Given the description of an element on the screen output the (x, y) to click on. 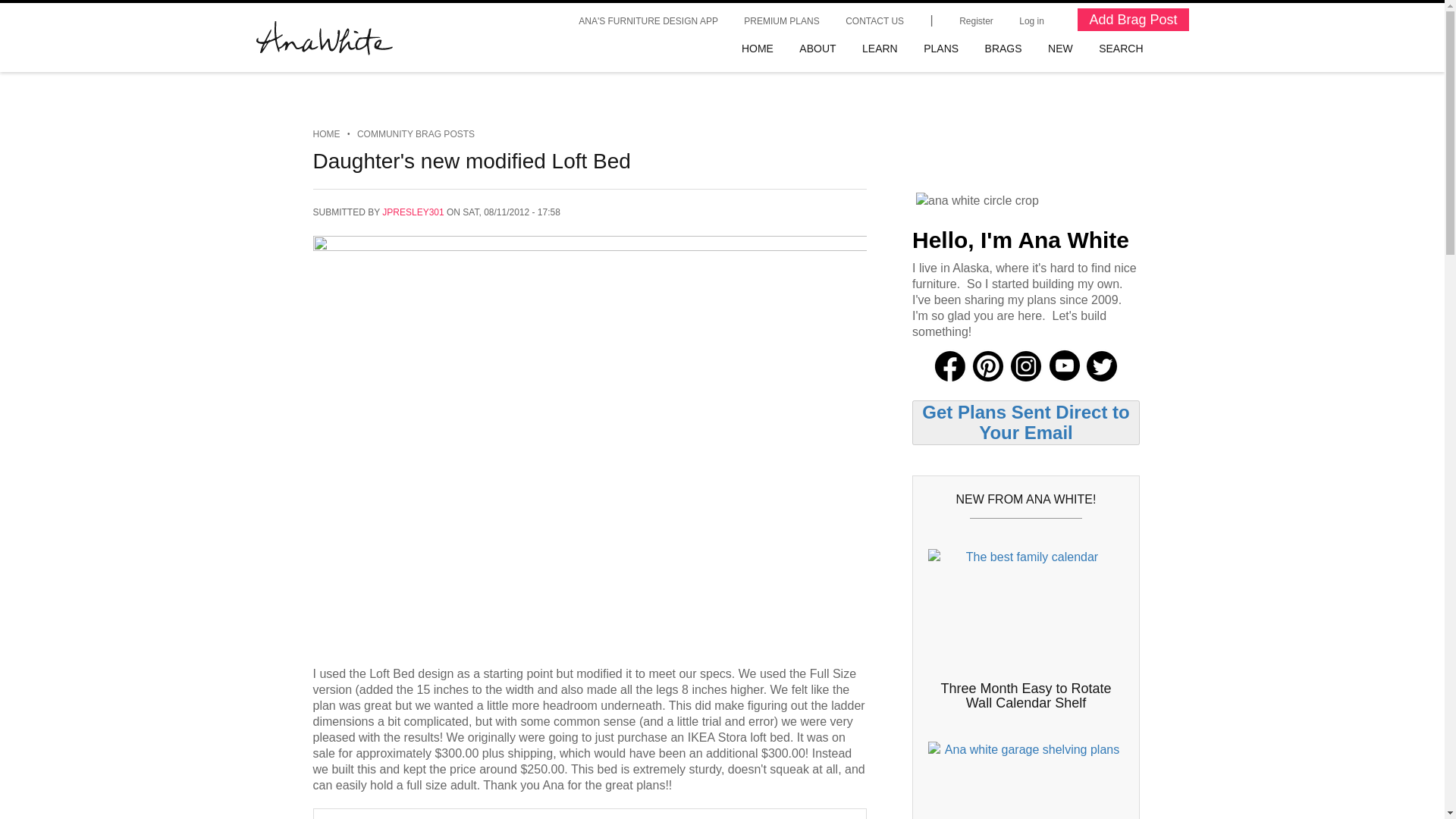
Register (975, 20)
Ana White (324, 38)
JPRESLEY301 (412, 212)
ANA'S FURNITURE DESIGN APP (648, 20)
HOME (326, 133)
Add Brag Post (1132, 19)
COMMUNITY BRAG POSTS (415, 133)
PREMIUM PLANS (780, 20)
View user profile. (412, 212)
LEARN (879, 48)
